Given the description of an element on the screen output the (x, y) to click on. 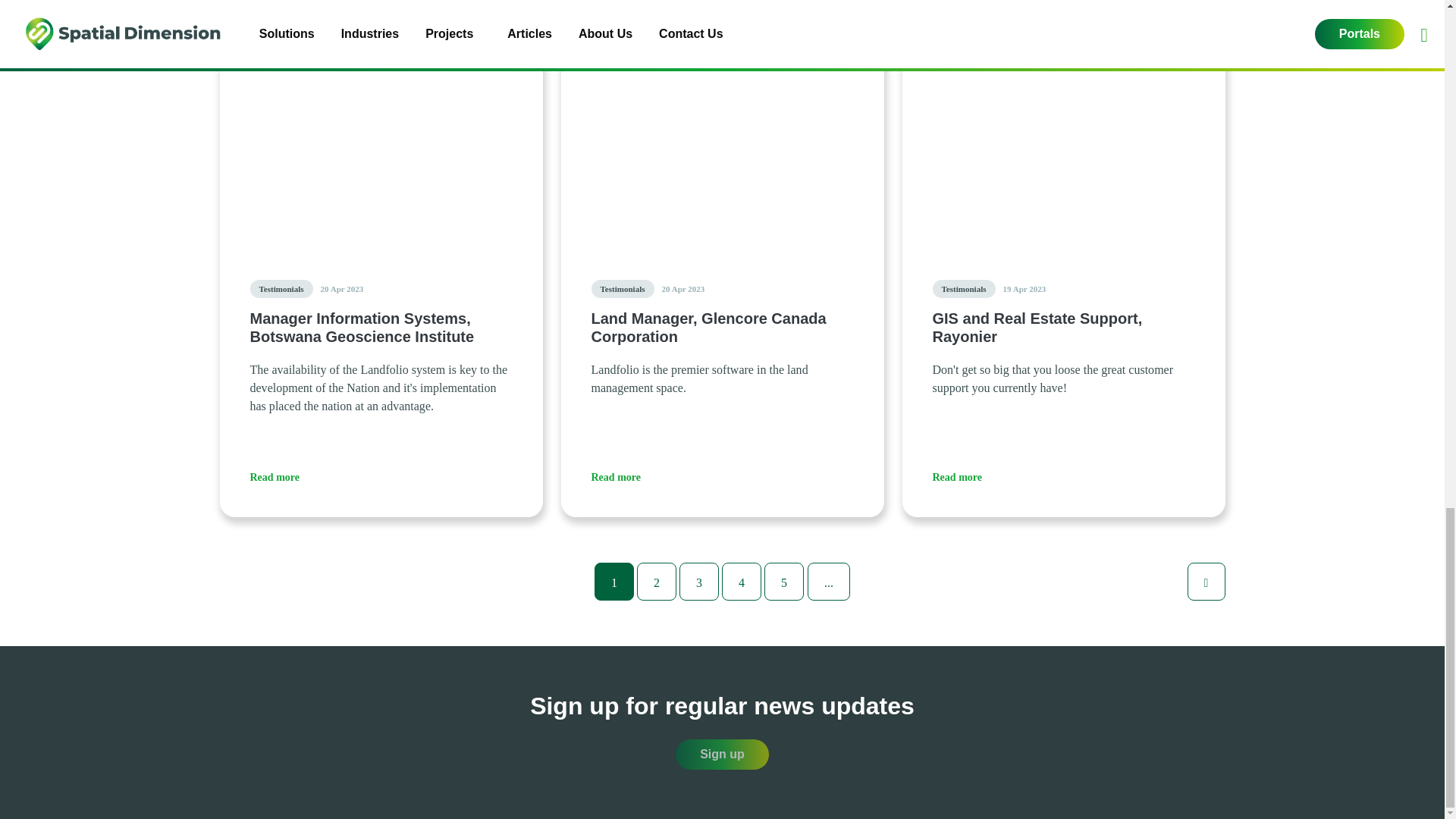
Next (1206, 581)
Testimonials (622, 289)
Testimonials (281, 289)
Testimonials (964, 289)
